Given the description of an element on the screen output the (x, y) to click on. 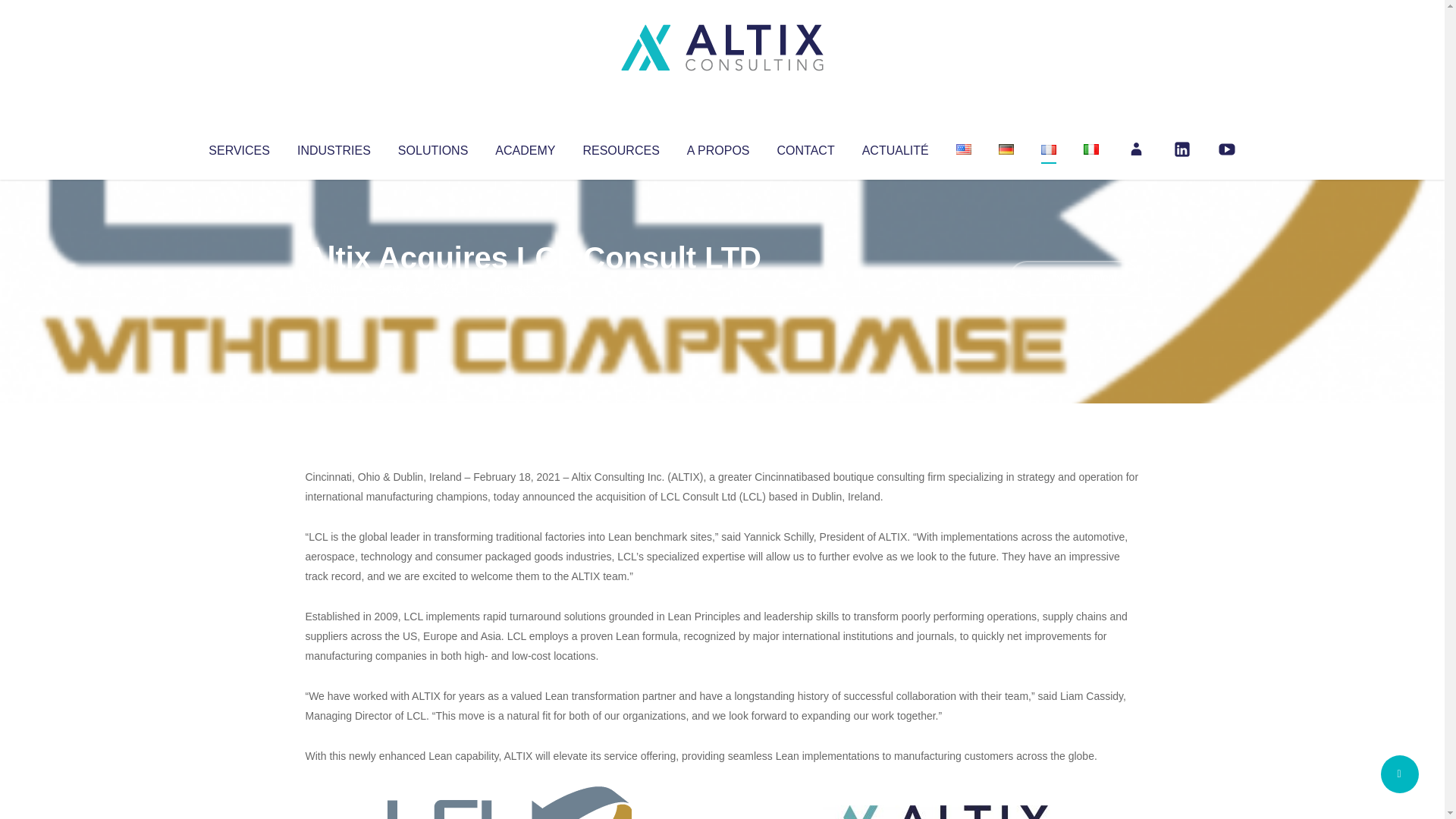
SERVICES (238, 146)
Articles par Altix (333, 287)
INDUSTRIES (334, 146)
Altix (333, 287)
RESOURCES (620, 146)
No Comments (1073, 278)
ACADEMY (524, 146)
Uncategorized (530, 287)
A PROPOS (718, 146)
SOLUTIONS (432, 146)
